Given the description of an element on the screen output the (x, y) to click on. 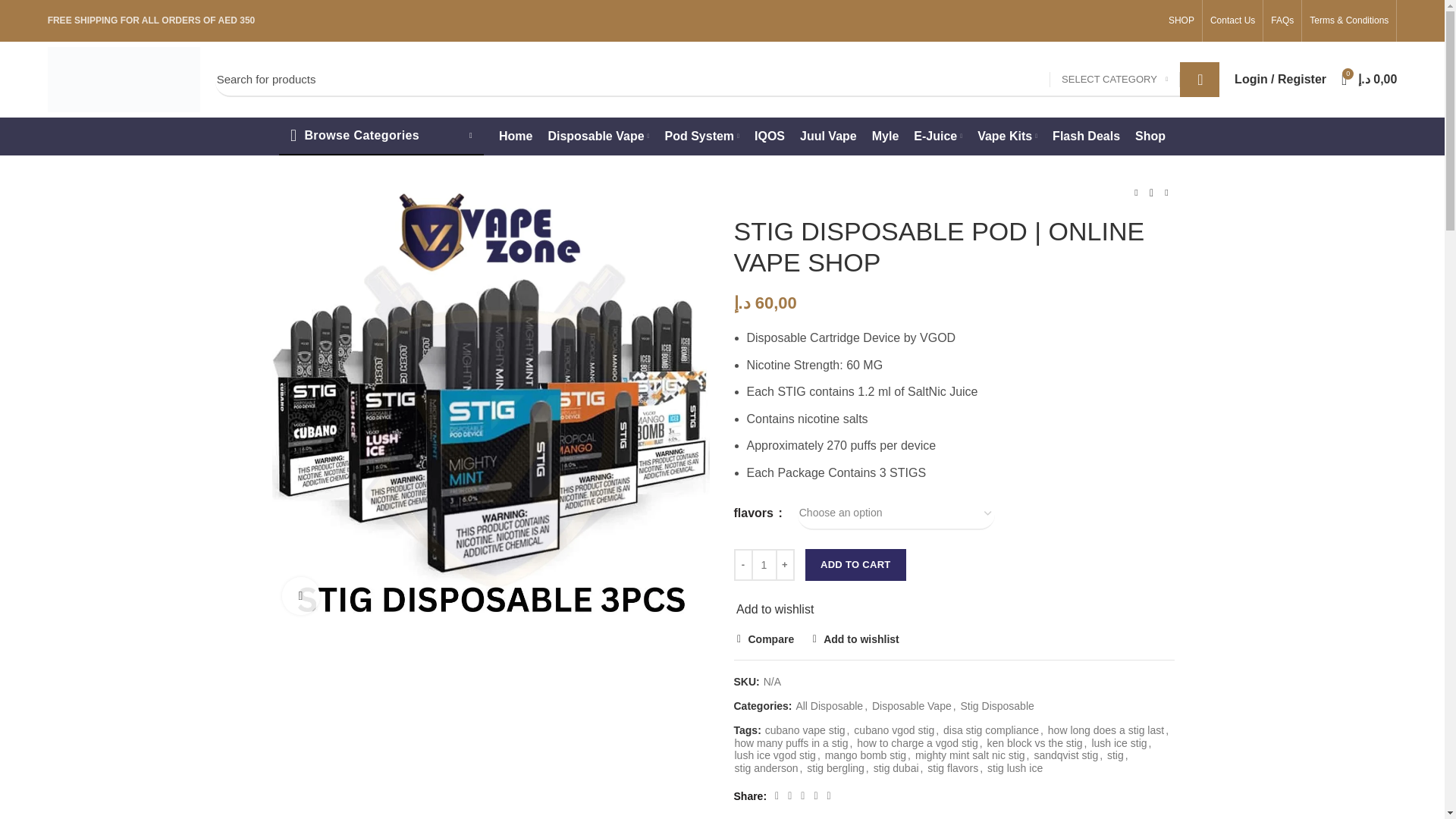
SELECT CATEGORY (1114, 79)
SEARCH (1199, 79)
My account (1280, 79)
SHOP (1181, 20)
Contact Us (1232, 20)
FAQs (1282, 20)
Shopping cart (1369, 79)
SELECT CATEGORY (1114, 79)
Search for products (717, 79)
